Given the description of an element on the screen output the (x, y) to click on. 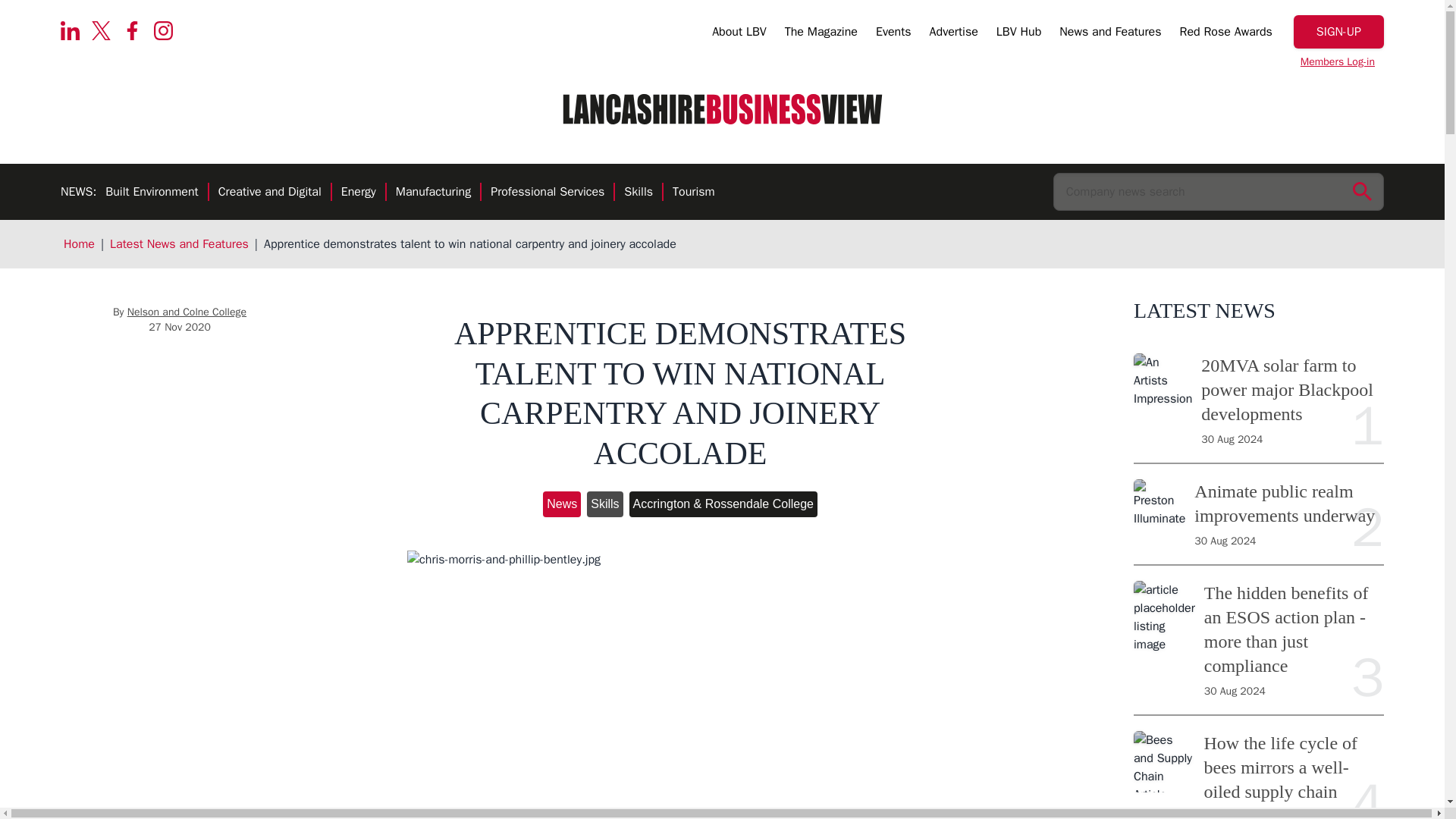
Creative and Digital (269, 192)
Skills (638, 192)
Tourism (693, 192)
Red Rose Awards (1225, 34)
Advertise (954, 34)
SIGN-UP (1339, 31)
Built Environment (151, 192)
LBV Hub (1018, 34)
Manufacturing (433, 192)
Events (893, 34)
